Given the description of an element on the screen output the (x, y) to click on. 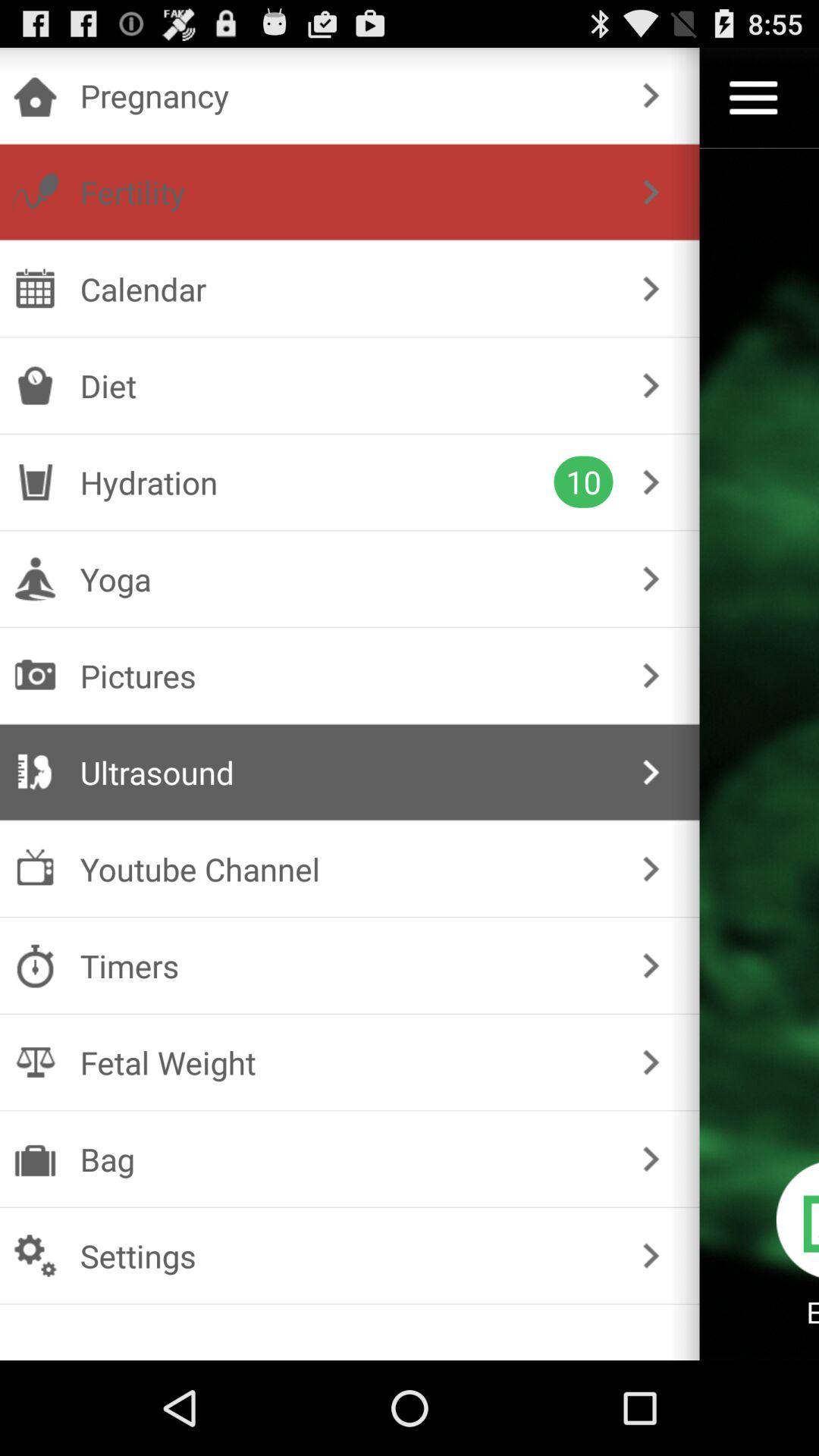
select the icon which is at the top left corner (35, 94)
click on the tv image icon to the left of the text youtube channel (35, 868)
select the icon right to ultrasound (35, 772)
click on the settings icon below the text bag (35, 1255)
